Given the description of an element on the screen output the (x, y) to click on. 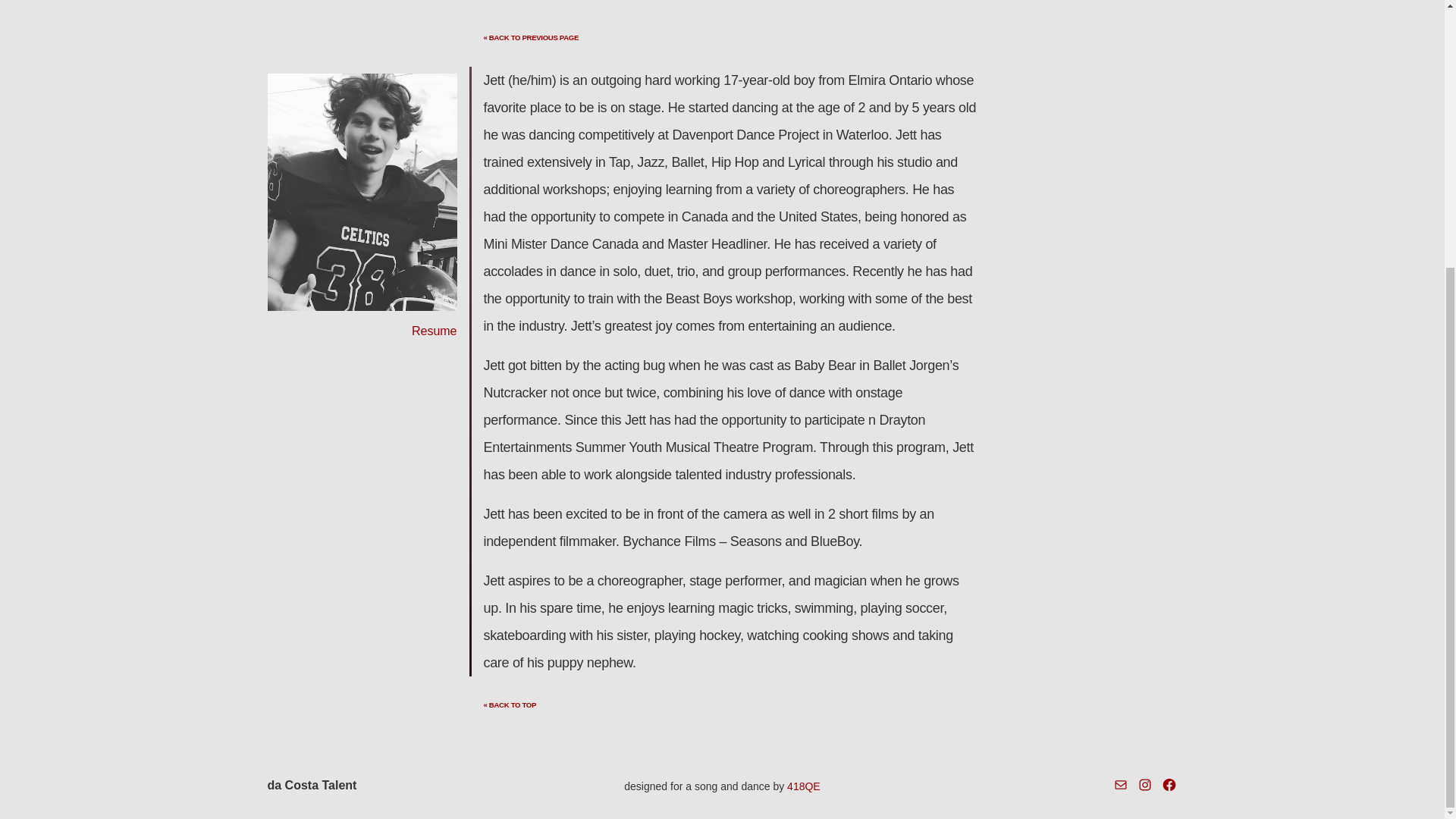
418QE (804, 786)
Firstname Lastname (361, 192)
Instagram (1145, 784)
Facebook (1168, 784)
Resume (434, 330)
da Costa Talent (311, 784)
